Given the description of an element on the screen output the (x, y) to click on. 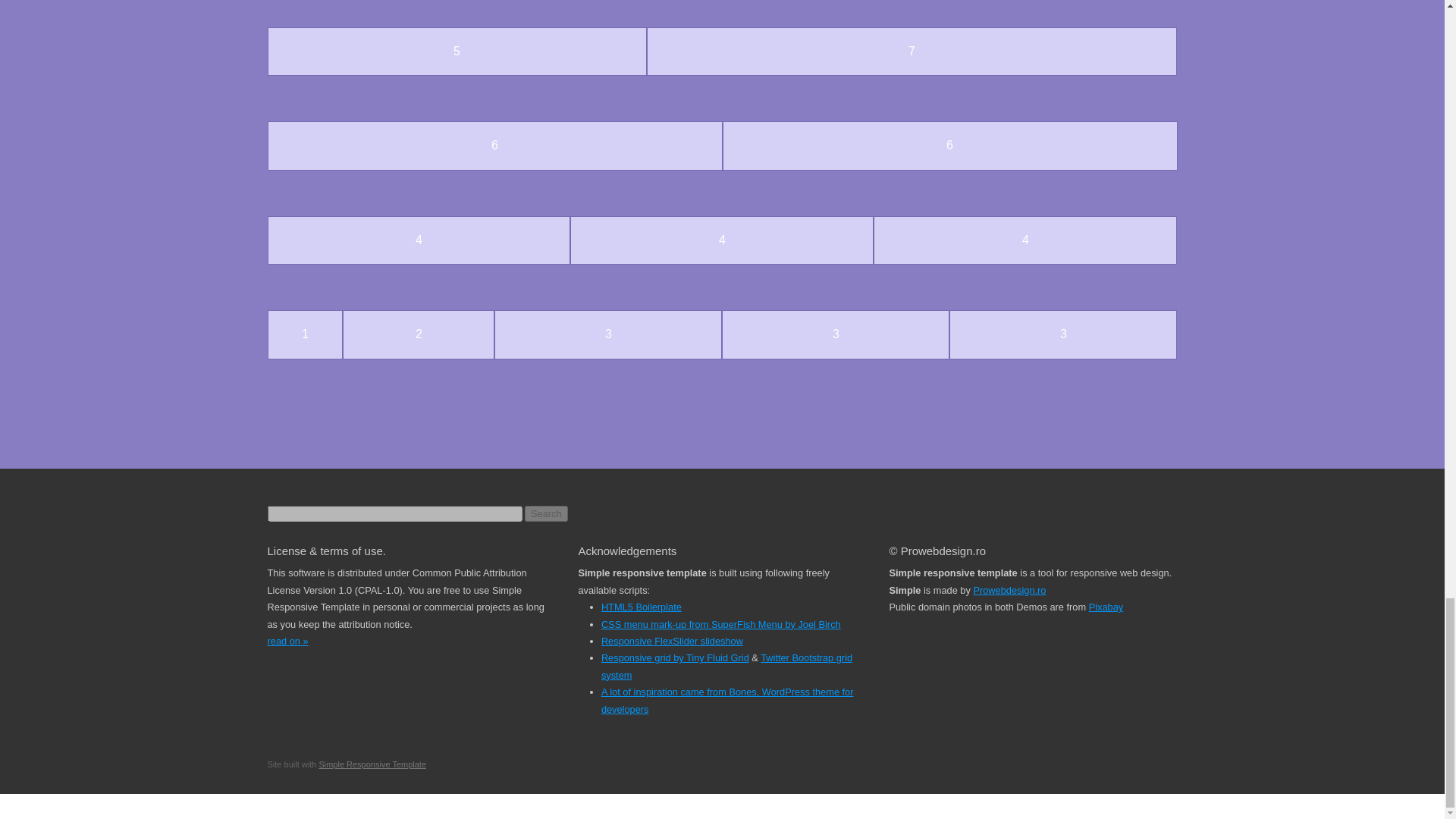
Responsive FlexSlider slideshow (671, 641)
HTML5 Boilerplate (641, 606)
Search (545, 513)
Twitter Bootstrap grid system (726, 665)
CSS menu mark-up from SuperFish Menu by Joel Birch (721, 624)
Search (545, 513)
Responsive grid by Tiny Fluid Grid (675, 657)
